Given the description of an element on the screen output the (x, y) to click on. 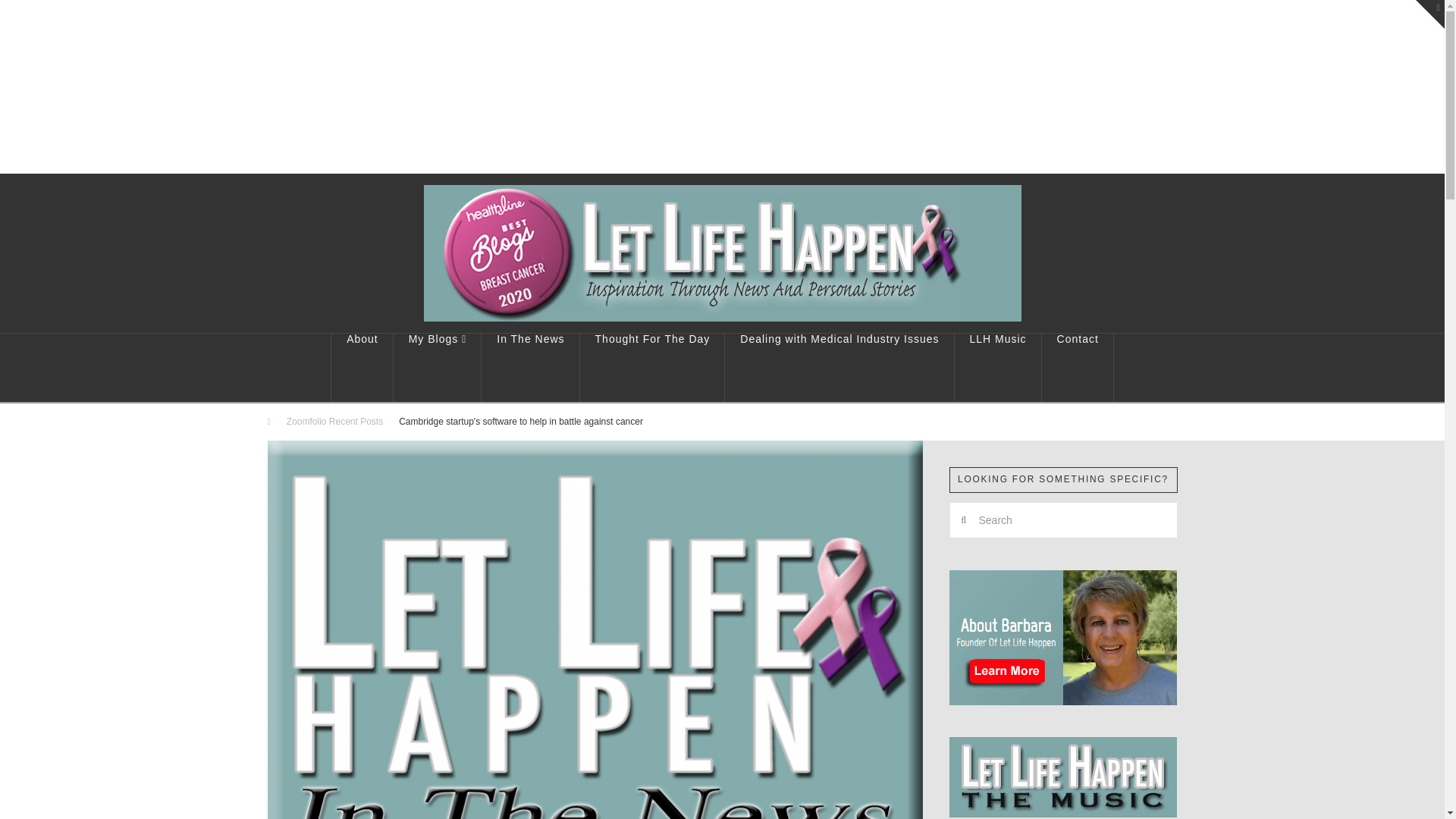
Thought For The Day (652, 367)
About (361, 367)
LLH Music (998, 367)
Zoomfolio Recent Posts (334, 421)
My Blogs (437, 367)
Contact (1077, 367)
Dealing with Medical Industry Issues (839, 367)
In The News (530, 367)
You Are Here (520, 421)
